Given the description of an element on the screen output the (x, y) to click on. 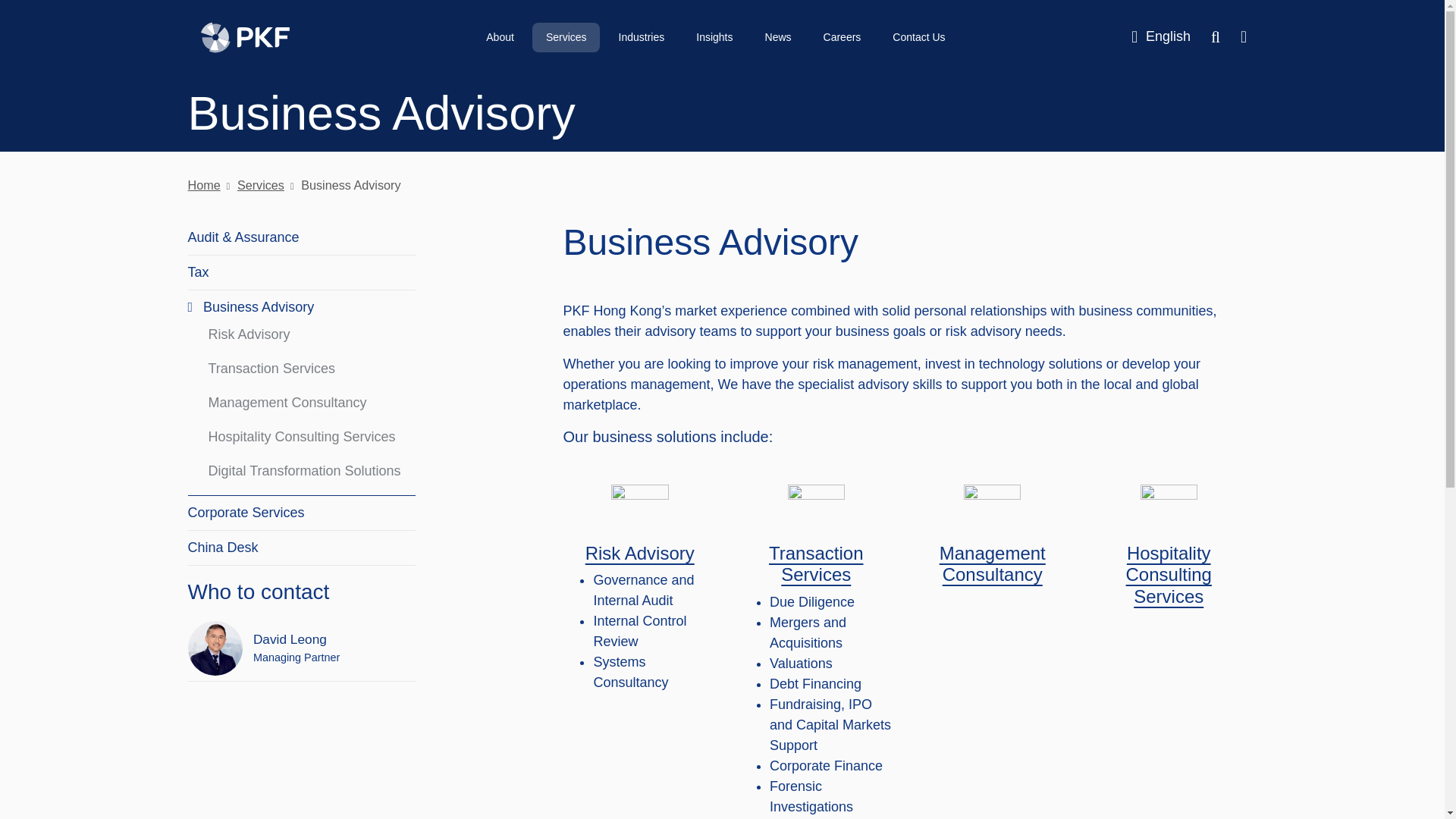
Insights (713, 37)
About (500, 37)
English (1160, 36)
Contact Us (918, 37)
News (778, 37)
Industries (641, 37)
About (500, 37)
Services (565, 37)
Industries (641, 37)
Services (565, 37)
